Given the description of an element on the screen output the (x, y) to click on. 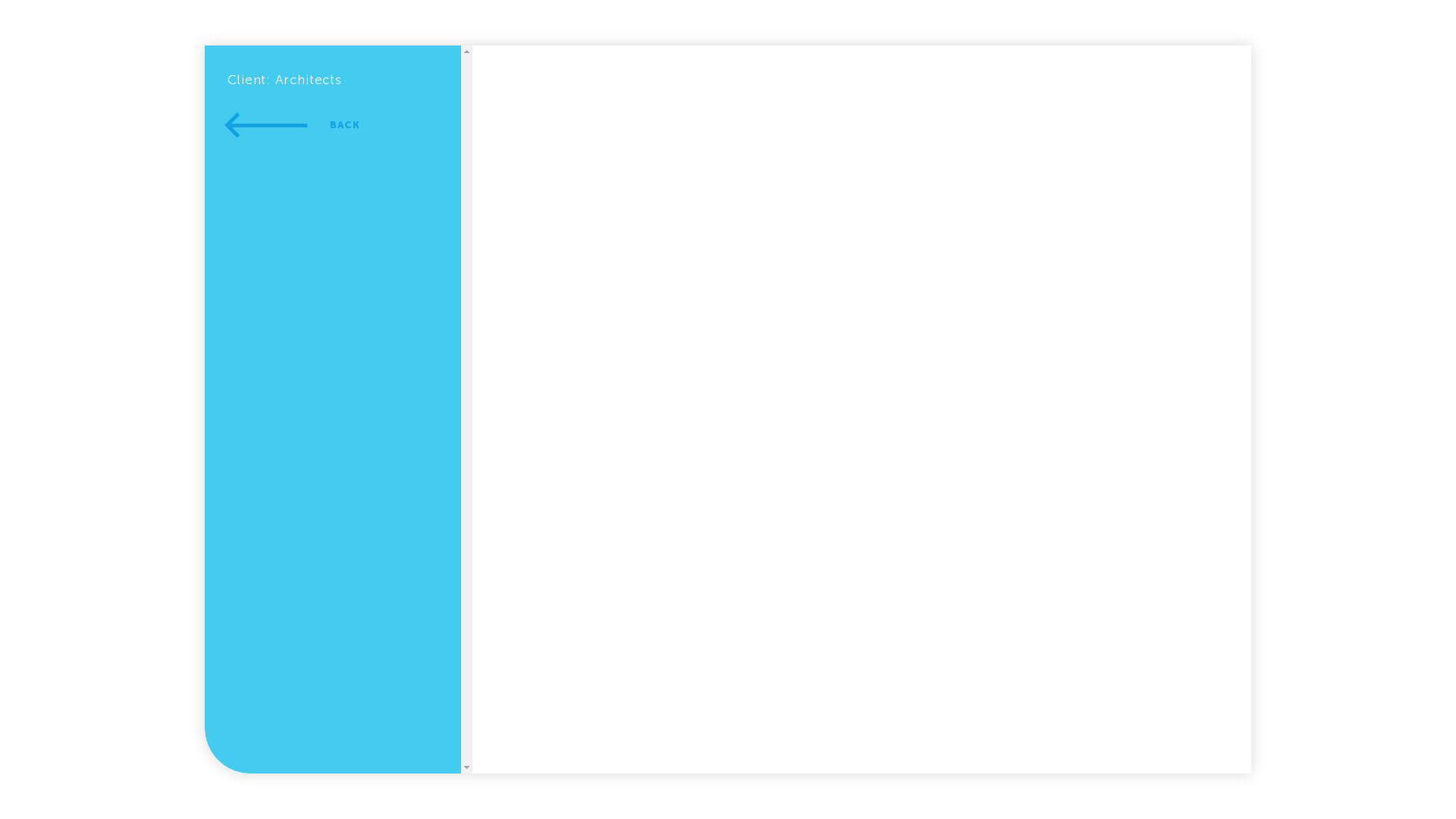
BACK Element type: text (293, 124)
